Given the description of an element on the screen output the (x, y) to click on. 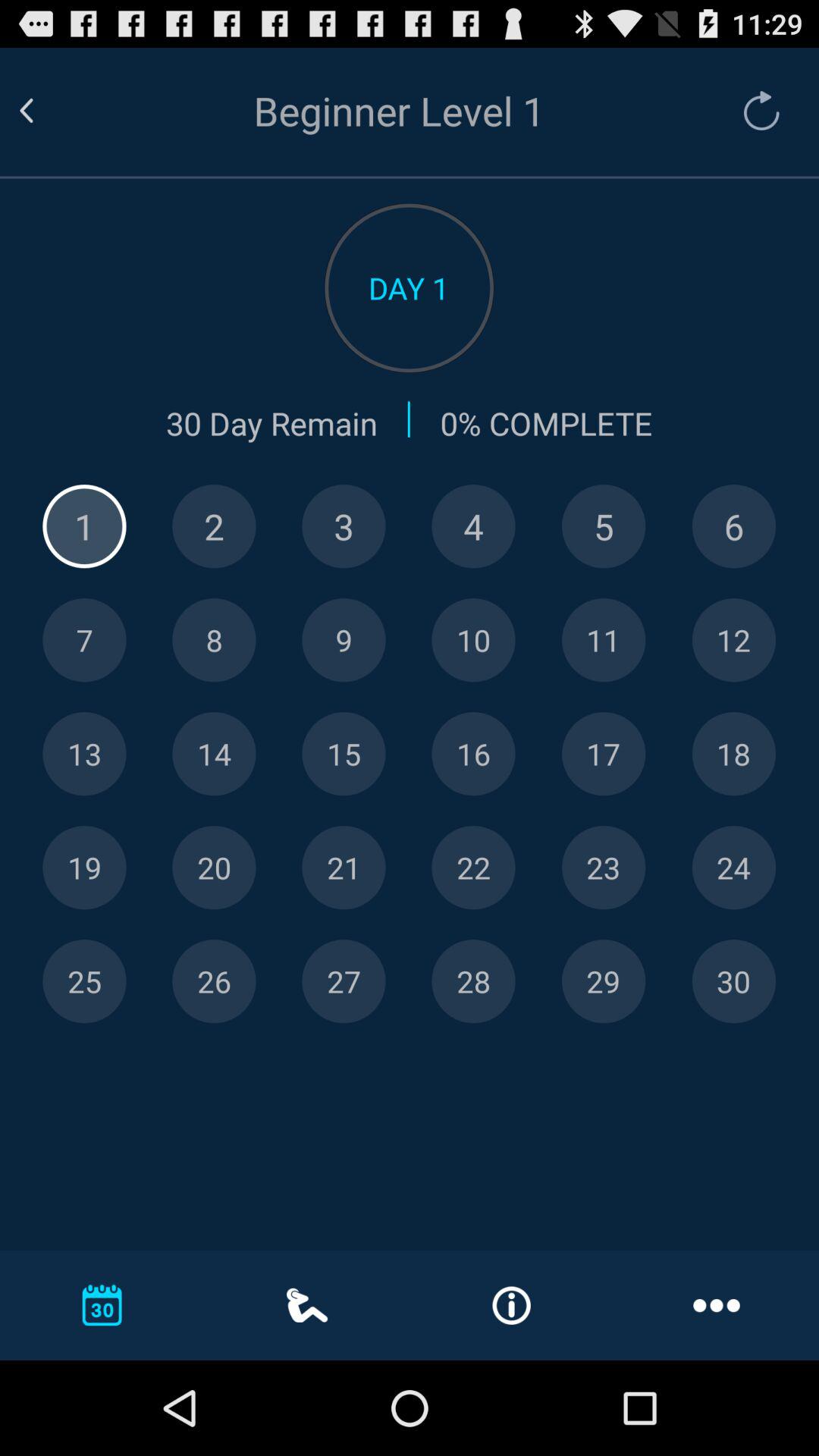
select day (733, 867)
